Given the description of an element on the screen output the (x, y) to click on. 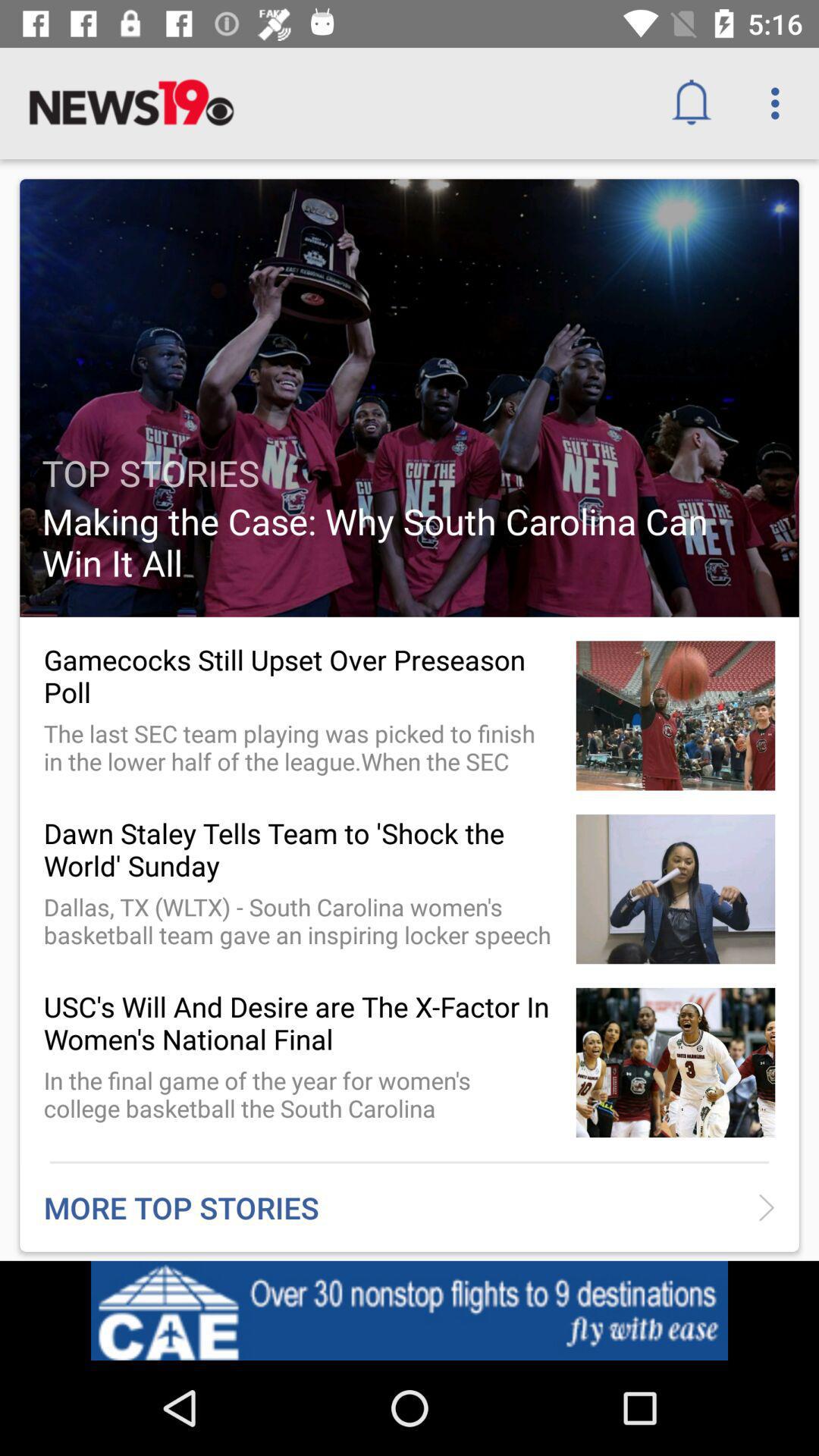
scroll until location item (696, 1315)
